Given the description of an element on the screen output the (x, y) to click on. 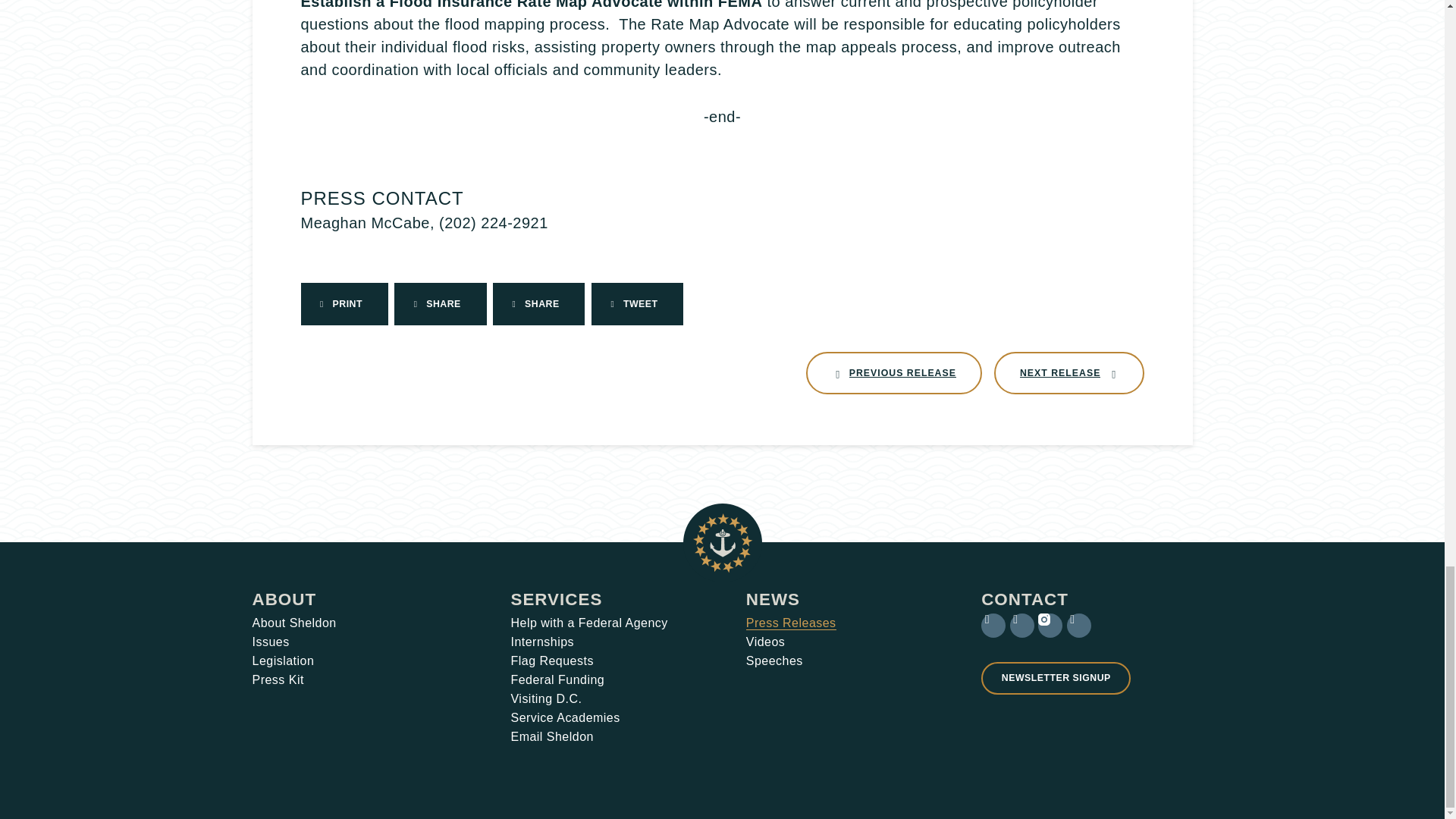
ABOUT (283, 599)
Issues (893, 372)
Legislation (269, 642)
About Sheldon (282, 661)
Press Kit (1069, 372)
